Given the description of an element on the screen output the (x, y) to click on. 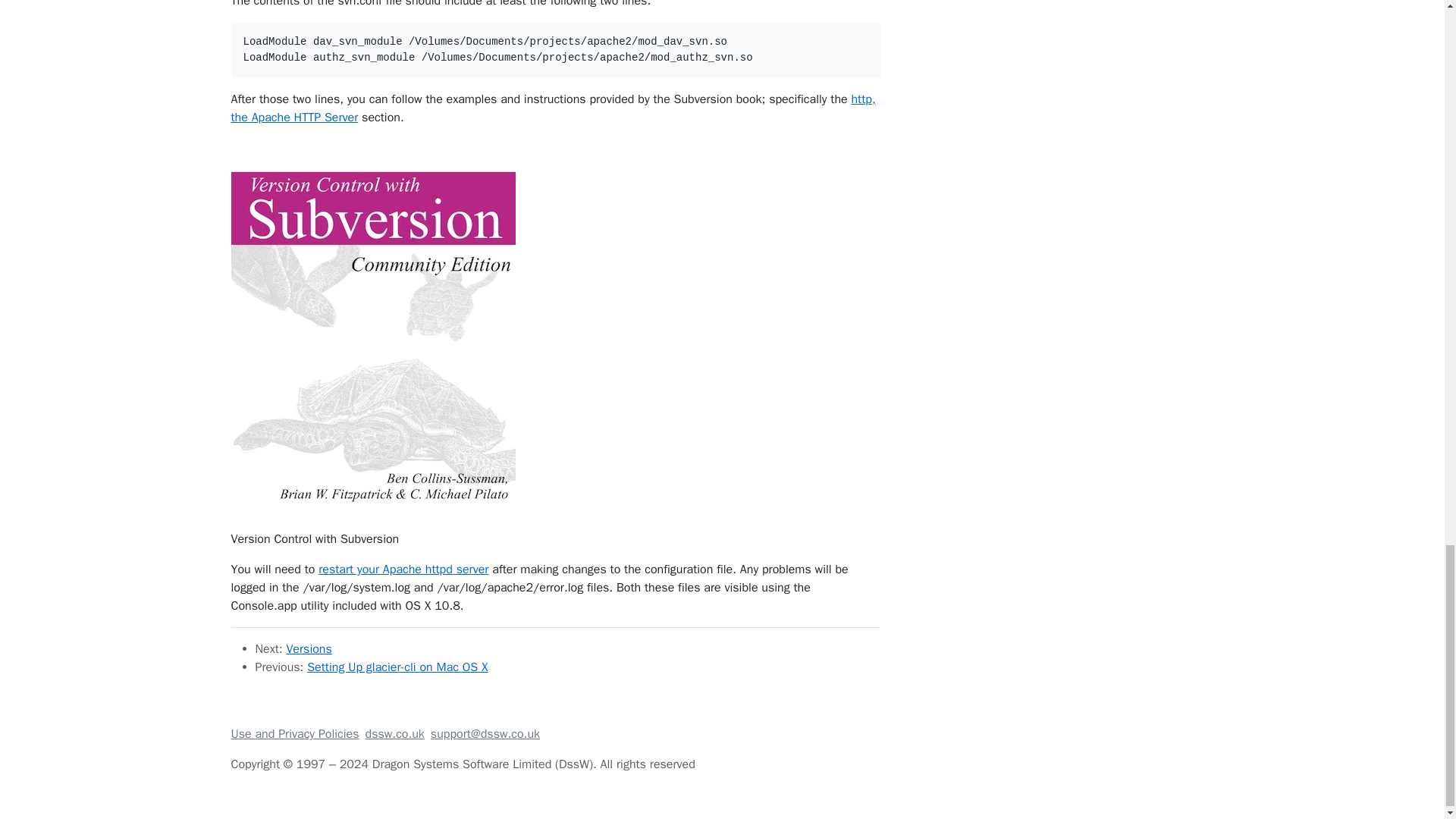
Use and Privacy Policies (294, 734)
Versions (308, 648)
http, the Apache HTTP Server (552, 108)
restart your Apache httpd server (402, 569)
Setting Up glacier-cli on Mac OS X (397, 667)
dssw.co.uk (395, 734)
